Given the description of an element on the screen output the (x, y) to click on. 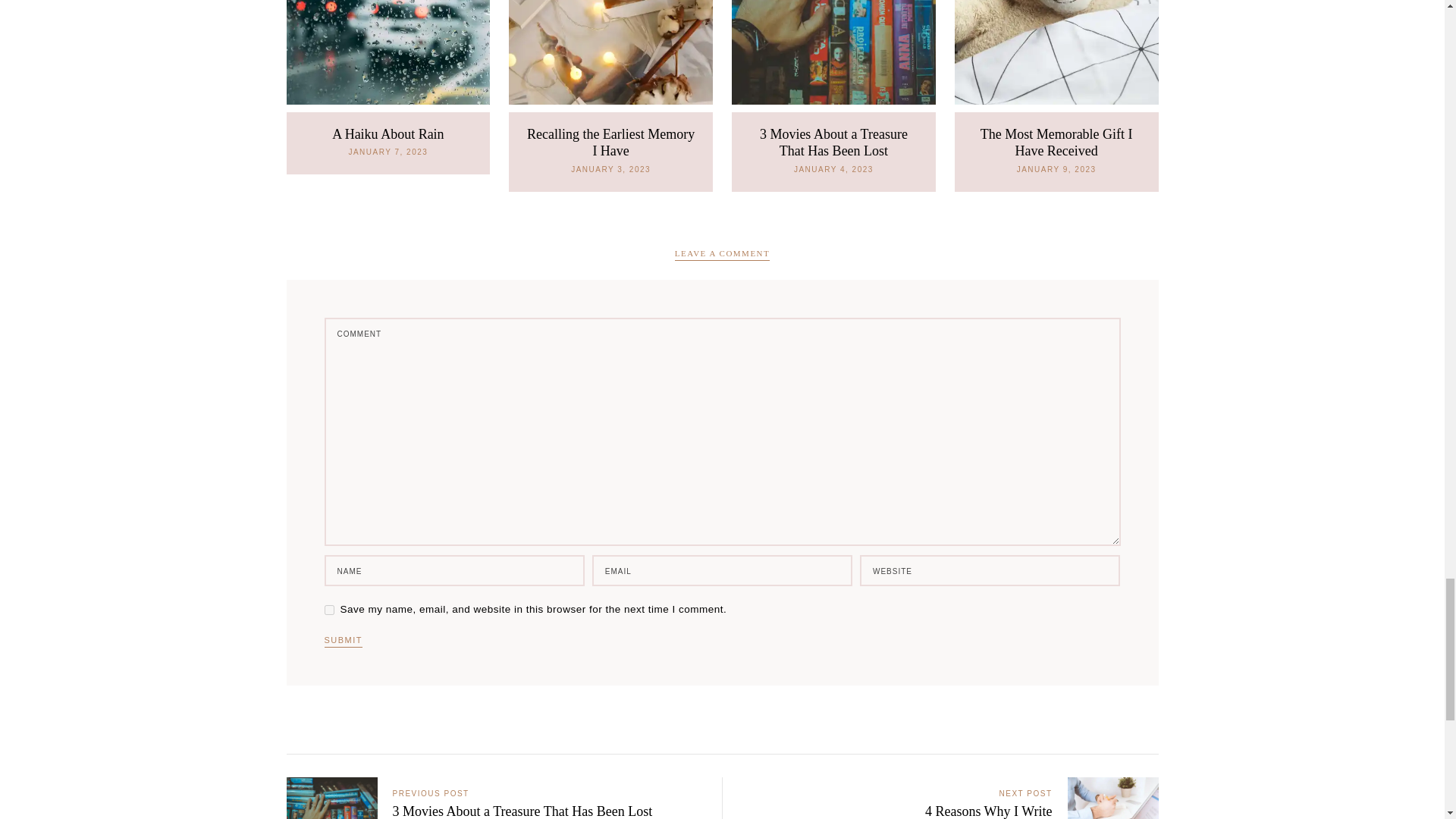
yes (329, 610)
Submit (343, 641)
